Given the description of an element on the screen output the (x, y) to click on. 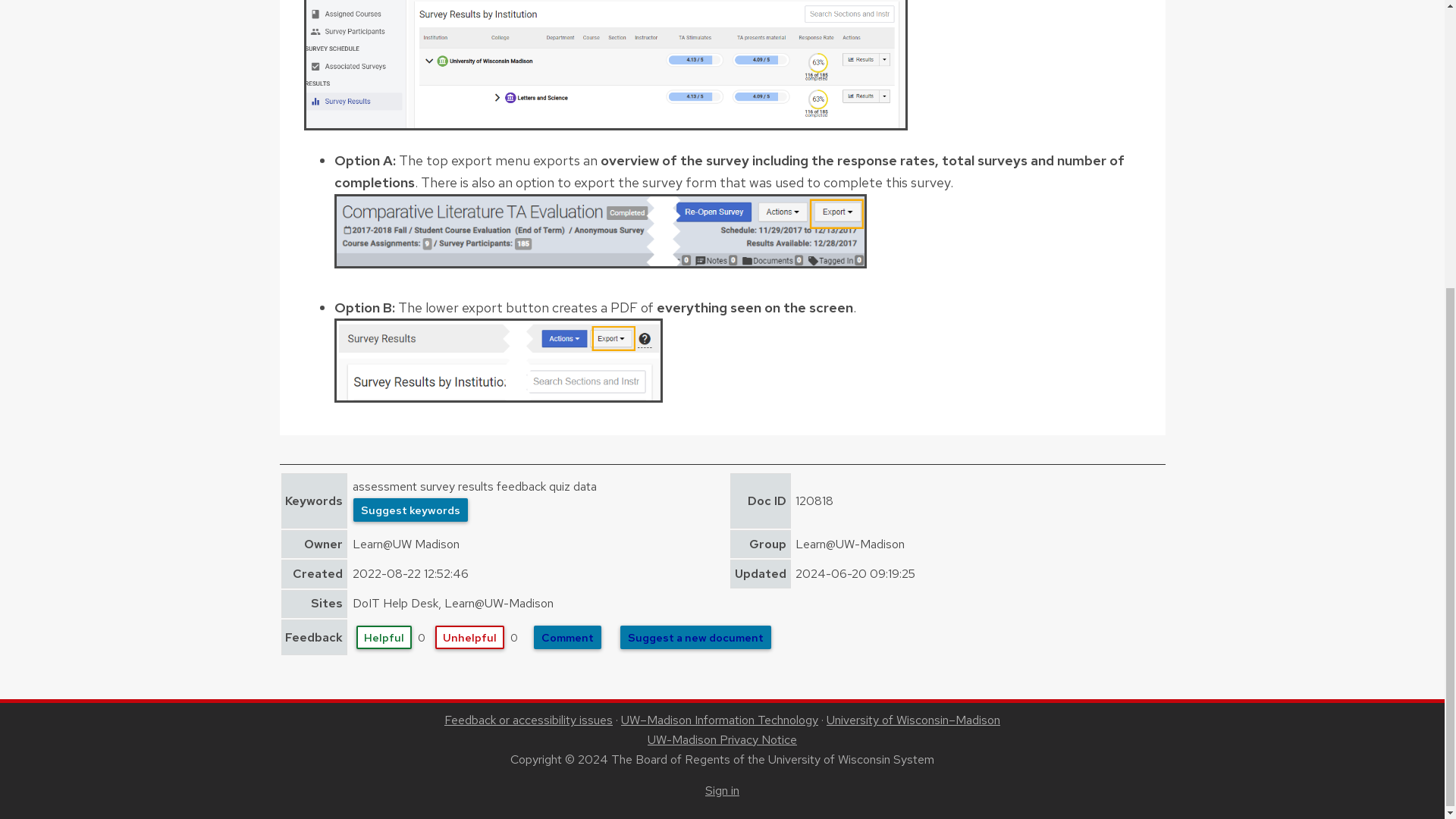
Helpful (384, 637)
Sign in (721, 790)
Suggest keywords (410, 509)
Suggest a new document (695, 637)
Feedback or accessibility issues (528, 719)
UW-Madison Privacy Notice (721, 739)
Unhelpful (469, 637)
Comment (567, 637)
